Given the description of an element on the screen output the (x, y) to click on. 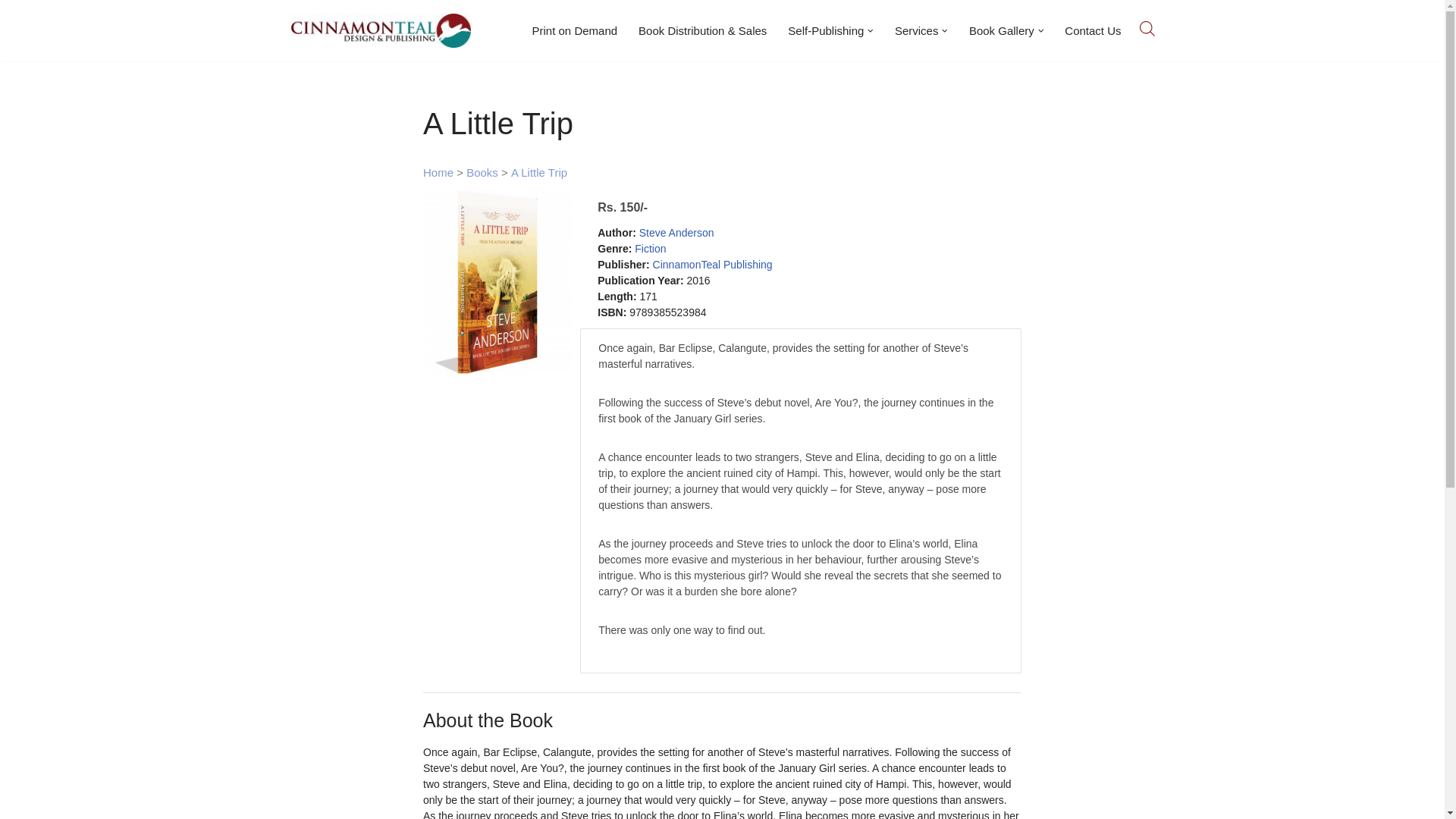
Book Gallery (1001, 30)
Self-Publishing (825, 30)
Skip to content (11, 31)
Services (917, 30)
Contact Us (1092, 30)
Print on Demand (574, 30)
